Given the description of an element on the screen output the (x, y) to click on. 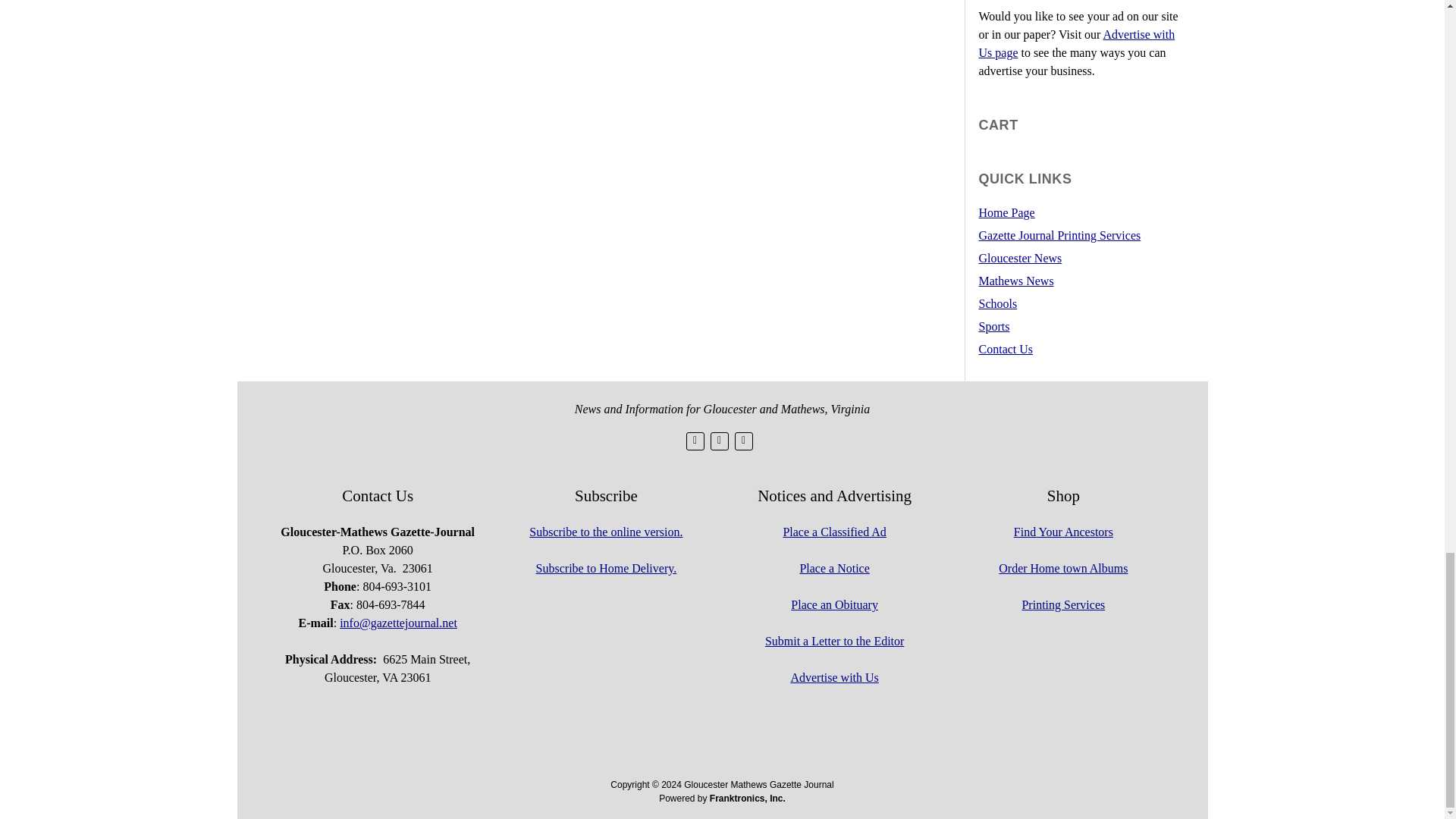
facebook (719, 441)
twitter (694, 441)
instagram (742, 441)
